Given the description of an element on the screen output the (x, y) to click on. 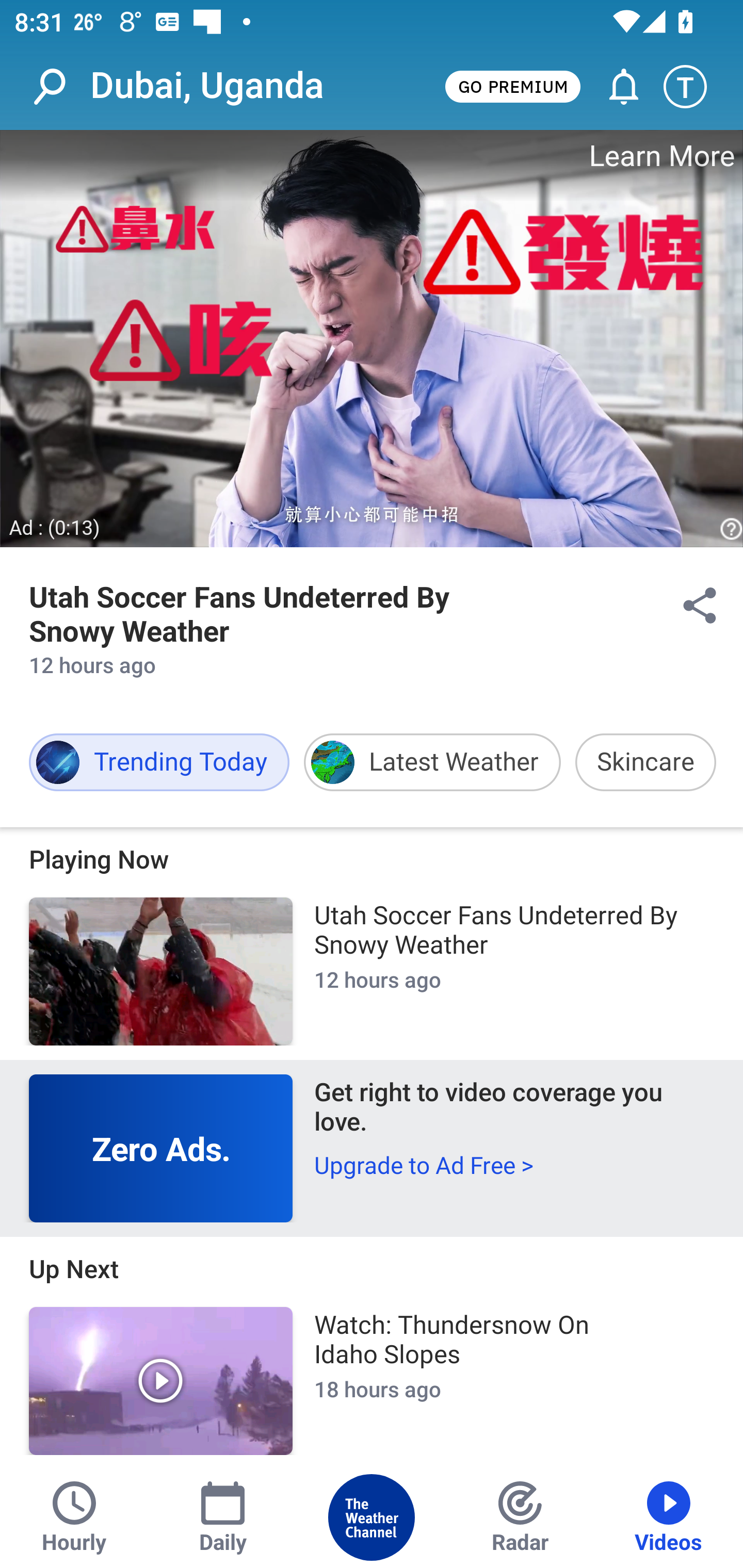
Search (59, 86)
Go to Alerts and Notifications (614, 86)
Setting icon T (694, 86)
Dubai, Uganda (206, 85)
GO PREMIUM (512, 85)
Learn More (660, 155)
Ad : (0:13) (54, 526)
help_outline_white_24dp_with_3px_trbl_padding (728, 529)
Trending Today (158, 762)
Latest Weather (431, 762)
Skincare (645, 762)
Play (160, 1381)
Hourly Tab Hourly (74, 1517)
Daily Tab Daily (222, 1517)
Home Tab (371, 1517)
Radar Tab Radar (519, 1517)
